Given the description of an element on the screen output the (x, y) to click on. 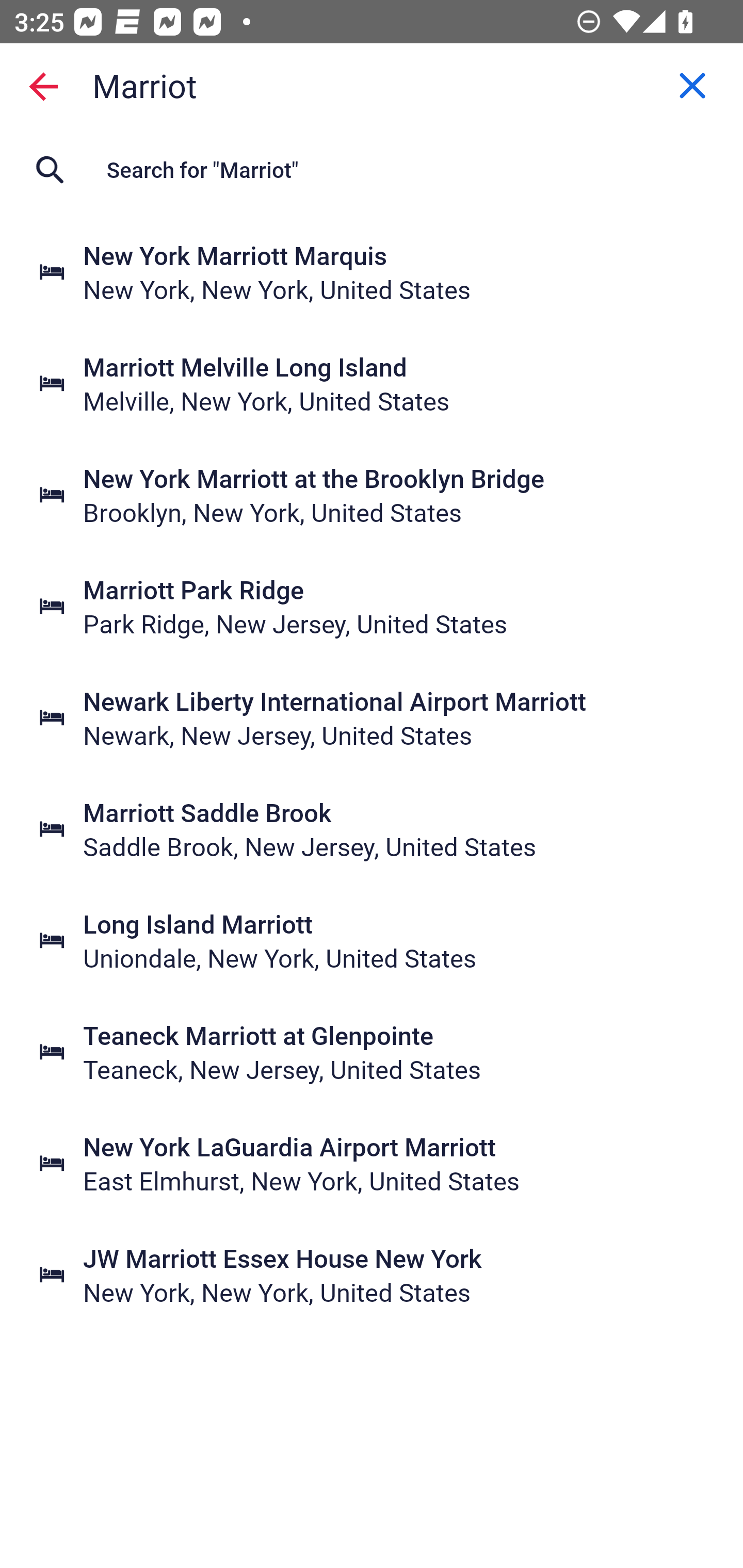
Clear query (692, 85)
Property name, Marriot (371, 85)
Back to search screen (43, 86)
Search for "Marriot" (371, 170)
